Given the description of an element on the screen output the (x, y) to click on. 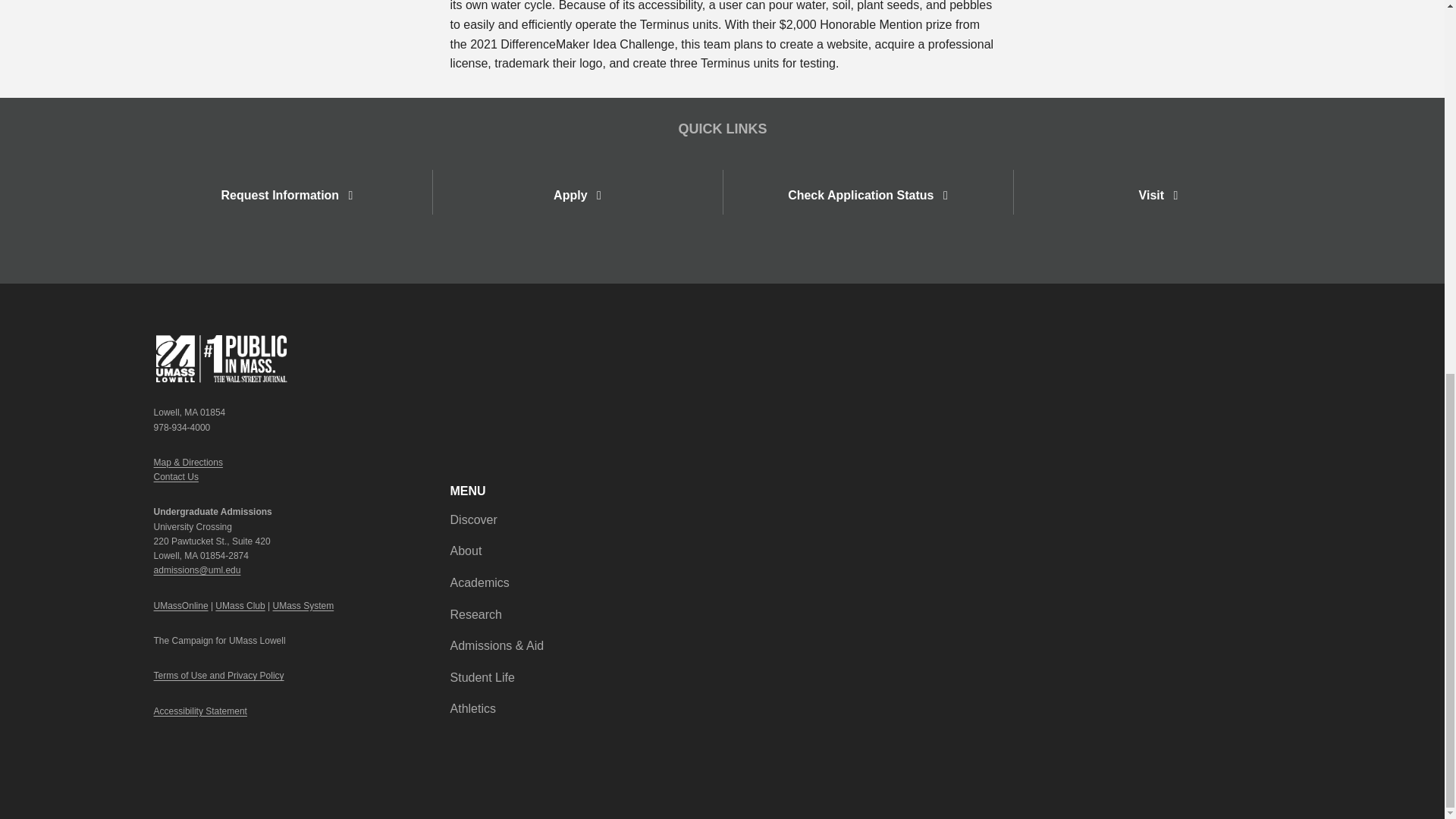
Request Information (287, 192)
Twitter (1244, 345)
Facebook (1228, 345)
Youtube (1259, 345)
Check Application Status (866, 192)
Apply (577, 195)
Visit (1157, 192)
Request Information (286, 195)
Discover (473, 519)
Apply (577, 195)
Check Application Status (867, 195)
Visit (1157, 195)
Request Information (286, 195)
Linkedin (1290, 345)
Instagram (1275, 345)
